Given the description of an element on the screen output the (x, y) to click on. 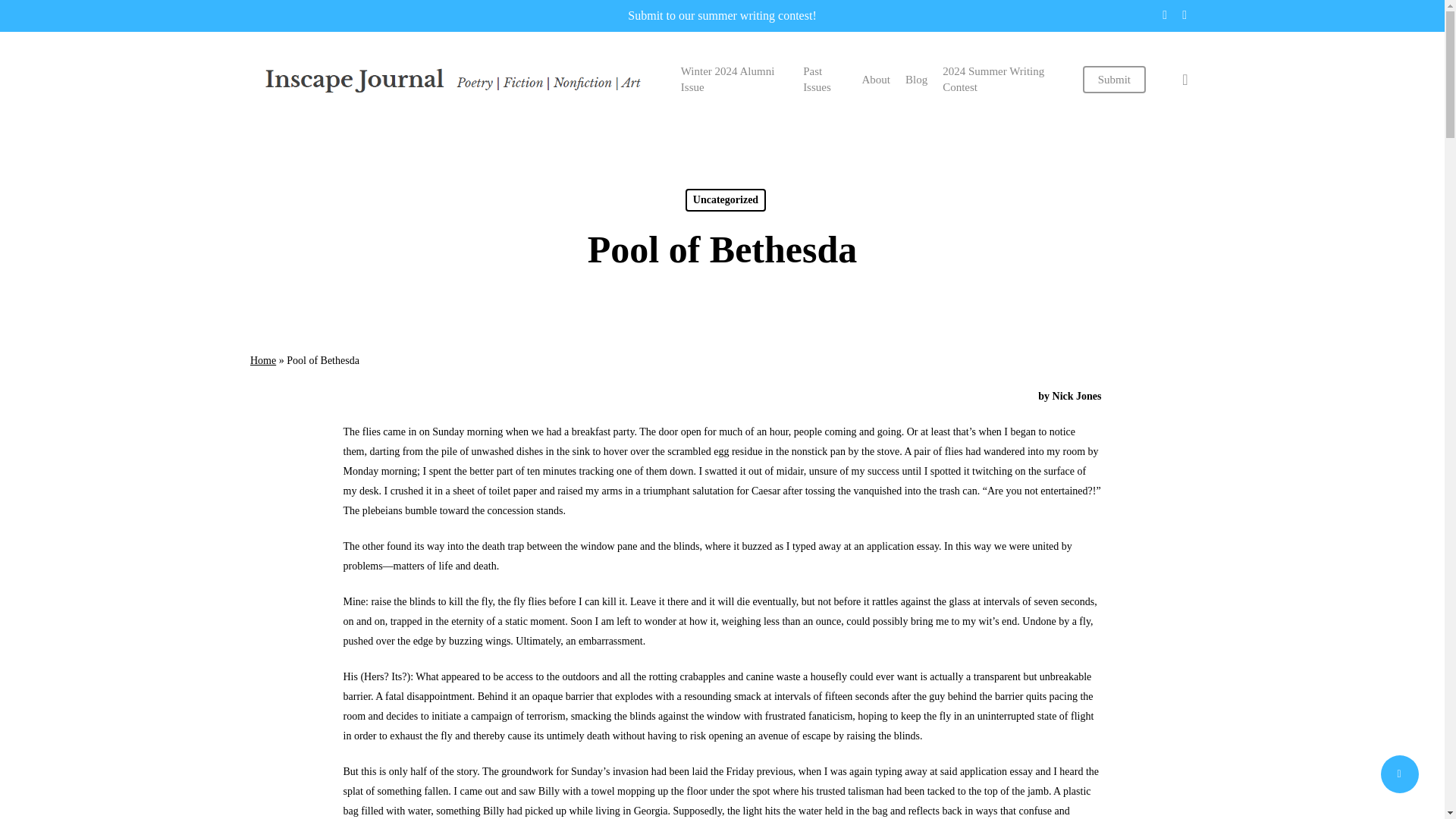
About (875, 78)
2024 Summer Writing Contest (1004, 79)
Uncategorized (725, 200)
Past Issues (824, 79)
Winter 2024 Alumni Issue (734, 79)
search (1184, 78)
Home (263, 360)
Blog (916, 78)
Submit to our summer writing contest! (721, 15)
Submit (1114, 78)
linkedin (1164, 15)
instagram (1184, 15)
